Given the description of an element on the screen output the (x, y) to click on. 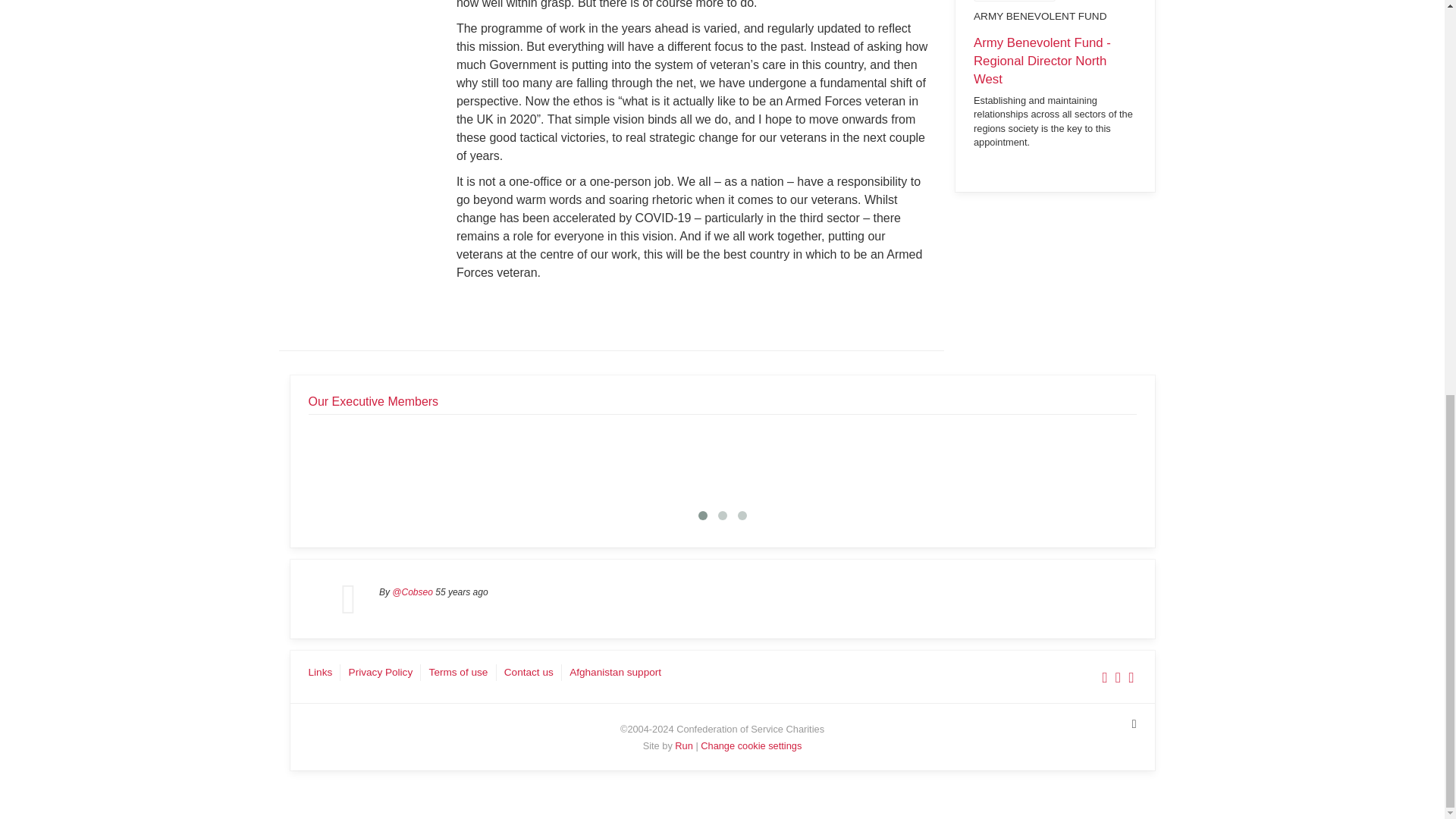
Army Benevolent Fund (377, 461)
Royal Navy and Royal Marines Charity (929, 461)
Look Army Benevolent Fund - Regional Director North West (1055, 91)
Forces in Mind Trust (515, 461)
RAF Benevolent Fund (792, 461)
SSAFA (1067, 461)
Help for Heroes (653, 461)
